Given the description of an element on the screen output the (x, y) to click on. 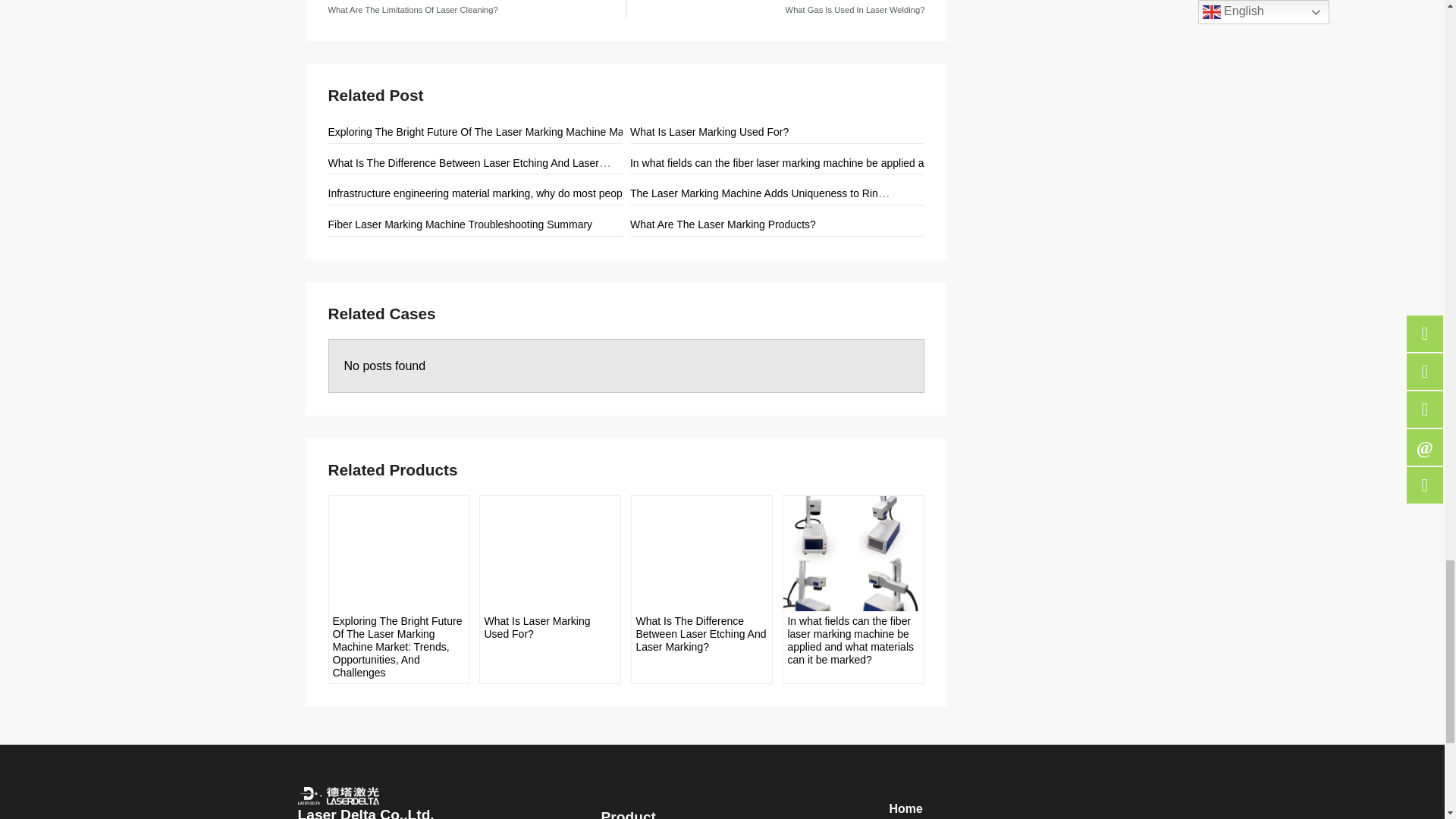
What Are The Laser Marking Products? (722, 224)
What Is Laser Marking Used For? (709, 132)
The Laser Marking Machine Adds Uniqueness to Ring Jewelry (776, 192)
Fiber Laser Marking Machine Troubleshooting Summary (459, 224)
